Given the description of an element on the screen output the (x, y) to click on. 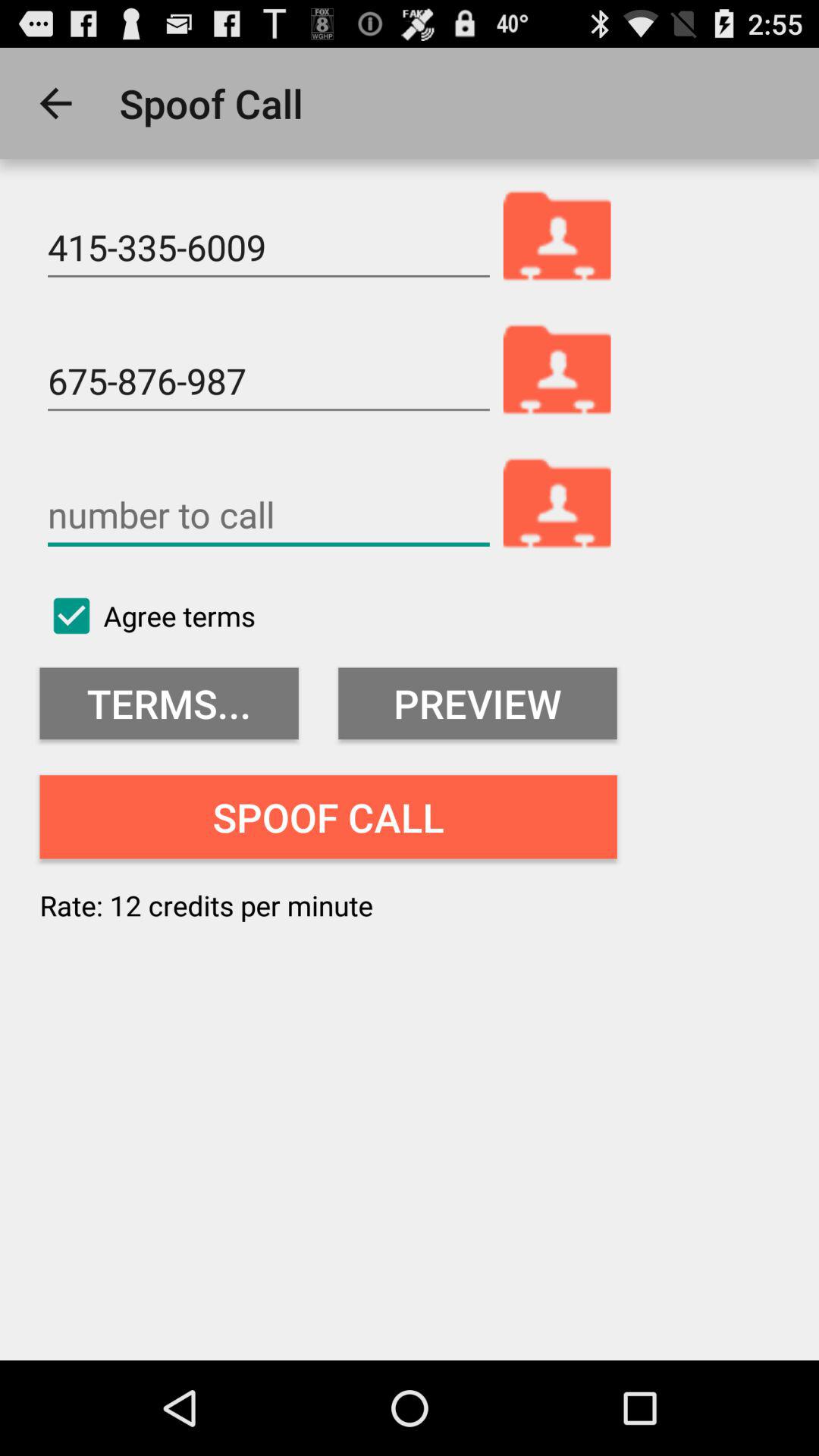
choose the icon above the terms... icon (147, 615)
